Given the description of an element on the screen output the (x, y) to click on. 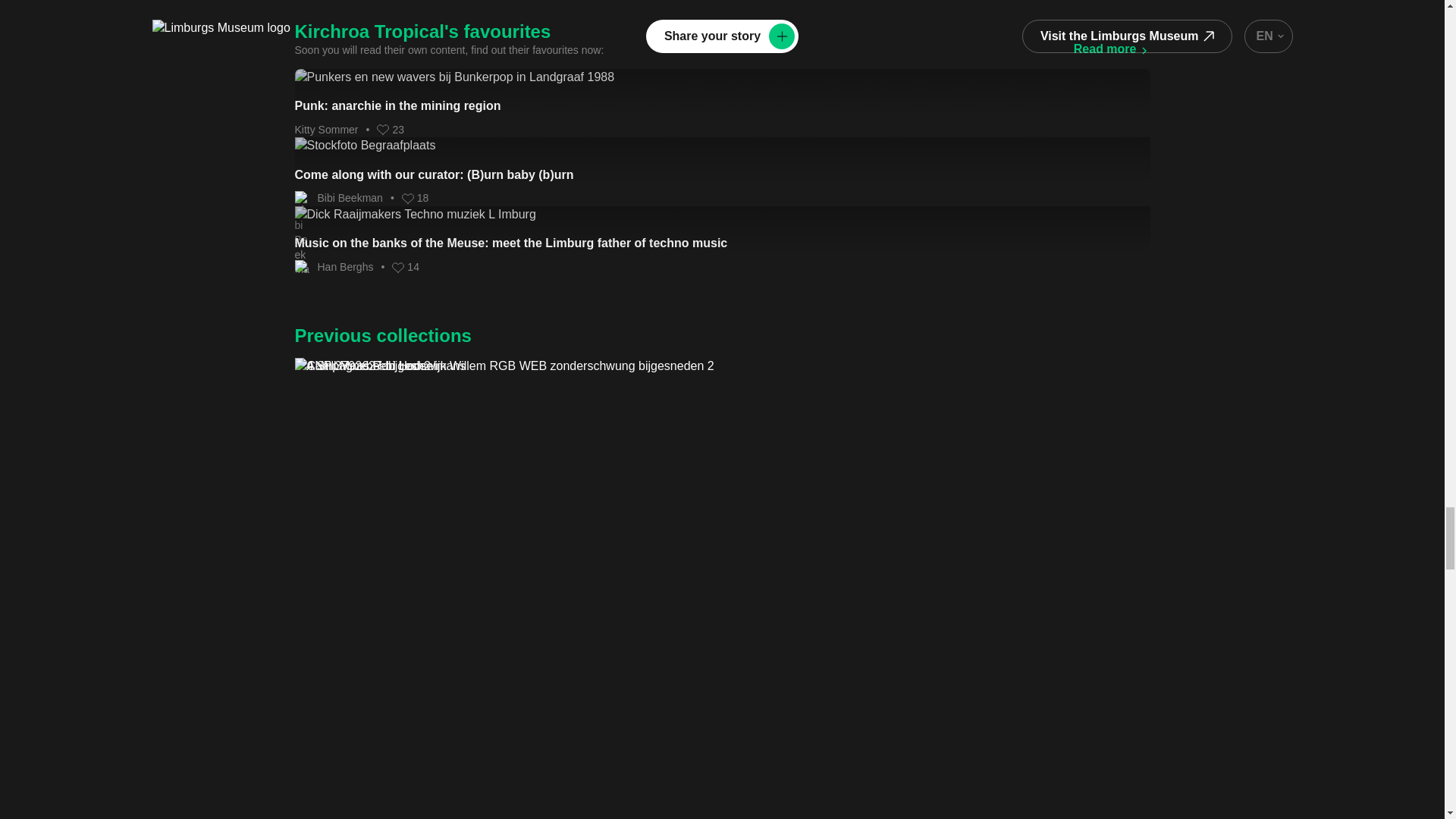
Punk: anarchie in the mining region (722, 91)
Read more (1112, 48)
